Given the description of an element on the screen output the (x, y) to click on. 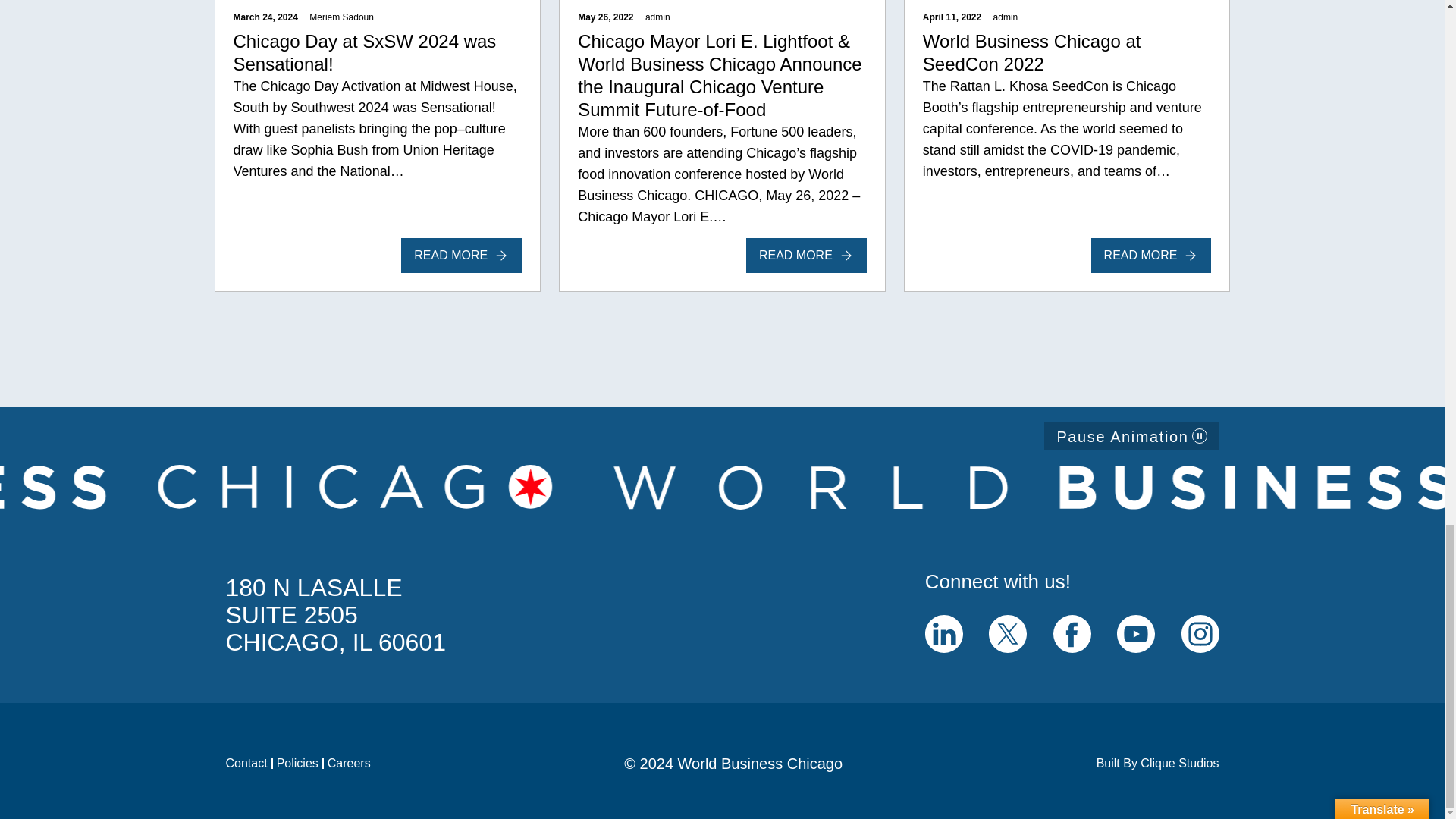
Twitter (1007, 633)
YouTube (1135, 648)
YouTube (1135, 633)
Facebook (1071, 633)
LinkedIn (943, 633)
Instagram (1200, 633)
Pause Animation (1130, 435)
LinkedIn (943, 648)
Instagram (1200, 648)
Twitter (1007, 648)
